Given the description of an element on the screen output the (x, y) to click on. 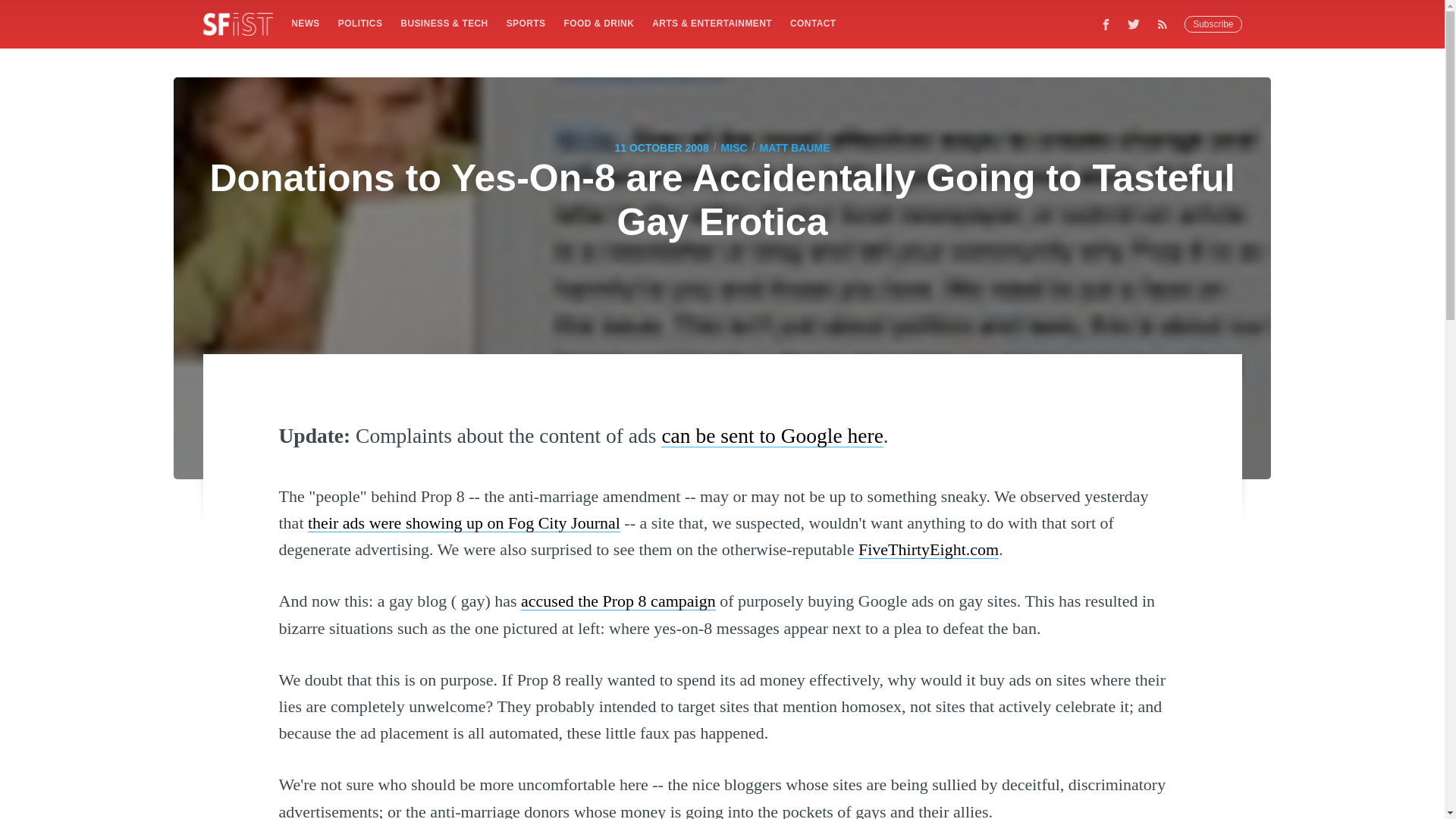
Facebook (1106, 23)
POLITICS (360, 23)
Subscribe (1213, 23)
RSS (1166, 23)
SPORTS (525, 23)
can be sent to Google here (771, 435)
Twitter (1133, 23)
their ads were showing up on Fog City Journal (463, 522)
MATT BAUME (793, 147)
FiveThirtyEight.com (928, 548)
